Given the description of an element on the screen output the (x, y) to click on. 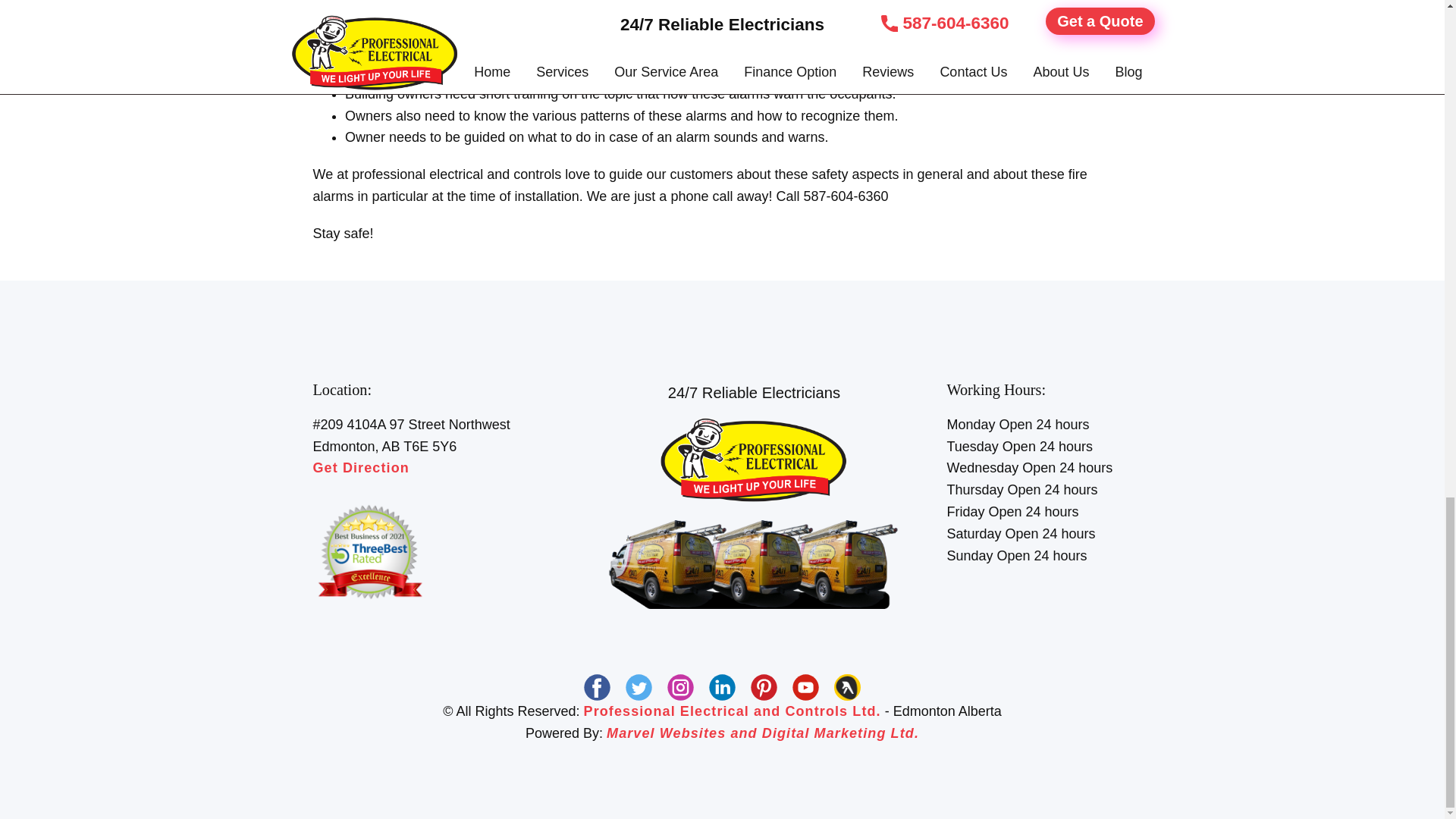
Yellow Pages (847, 687)
YouTube (805, 687)
LinkedIn (722, 687)
Instagram (680, 687)
twitter (639, 687)
PROFESSIONAL ELECTRICIAN (753, 459)
facebook (596, 687)
Pinterest (764, 687)
